Given the description of an element on the screen output the (x, y) to click on. 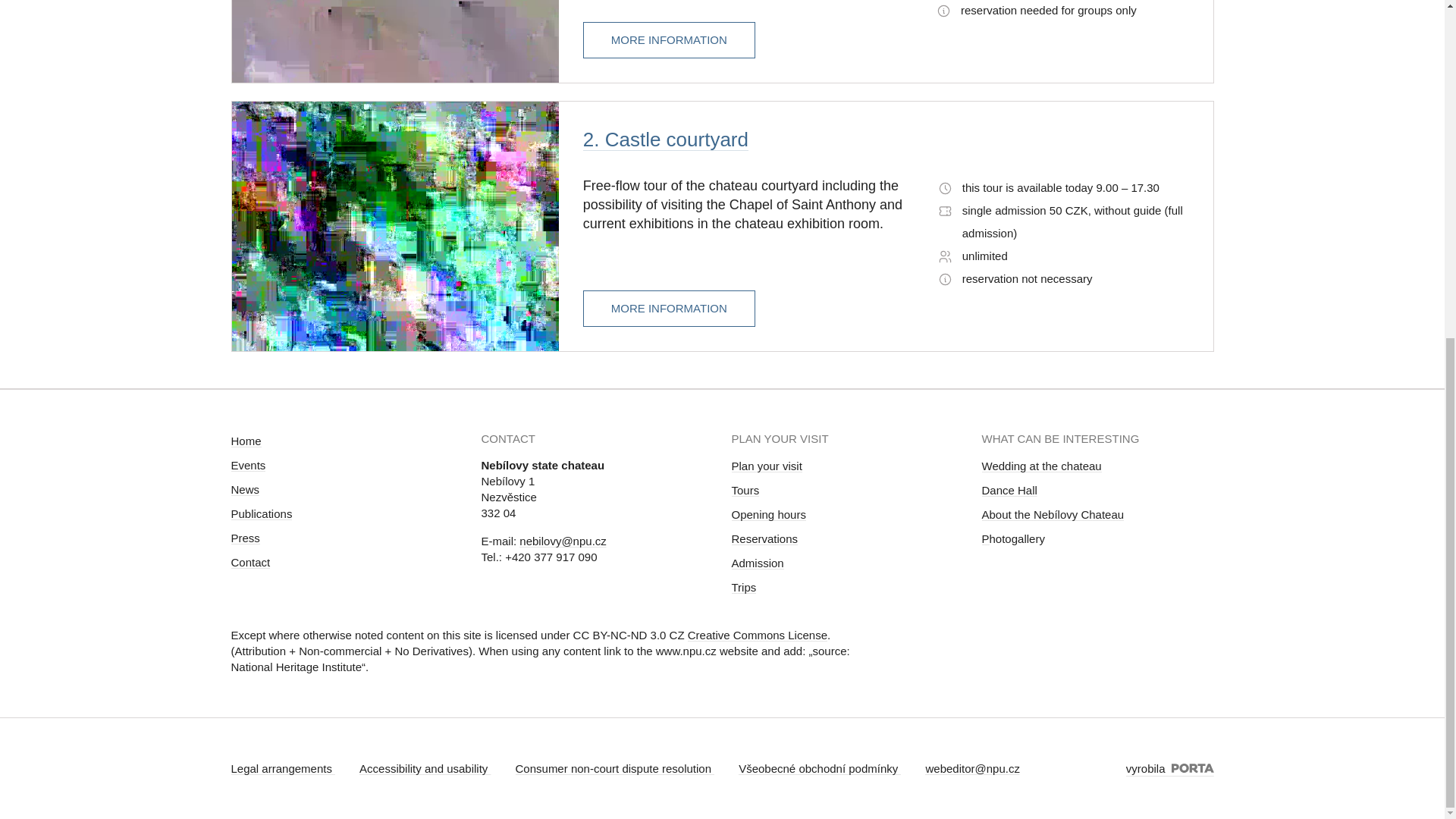
Home (245, 440)
94D4AB38-6EA4-4B19-9C7F-17B845D49188 (944, 256)
4F17A2ED-8B52-4F67-8D80-EE0130BE50BE (944, 210)
Consumer non-court dispute resolution (614, 768)
Publications (261, 513)
Events (247, 464)
Legal arrangements (282, 768)
MORE INFORMATION (669, 308)
2. Castle courtyard (665, 138)
Group (944, 278)
Group (943, 11)
MORE INFORMATION (669, 40)
News (244, 489)
Accessibility and usability  (424, 768)
